Given the description of an element on the screen output the (x, y) to click on. 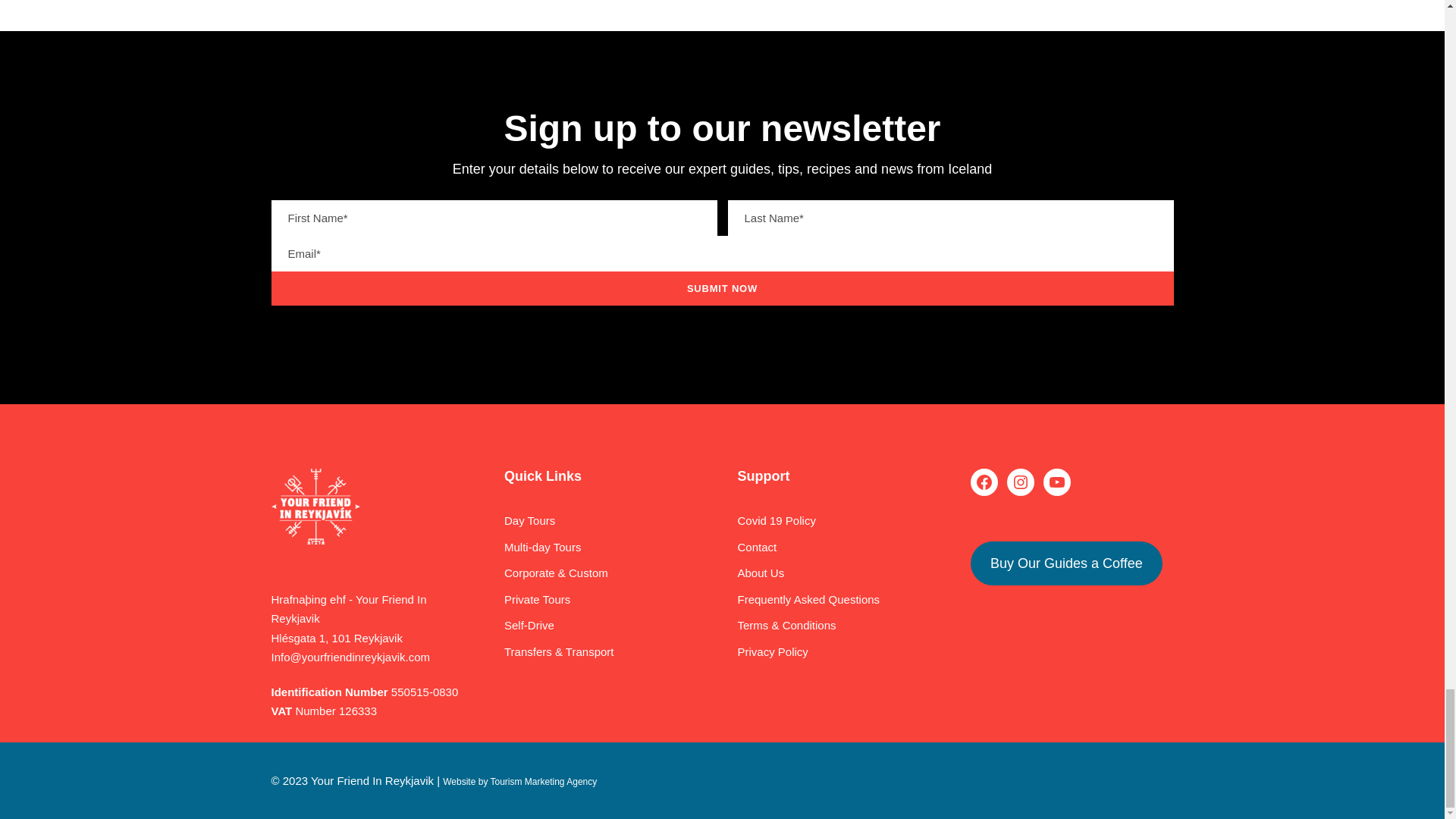
Submit Now (721, 288)
